Given the description of an element on the screen output the (x, y) to click on. 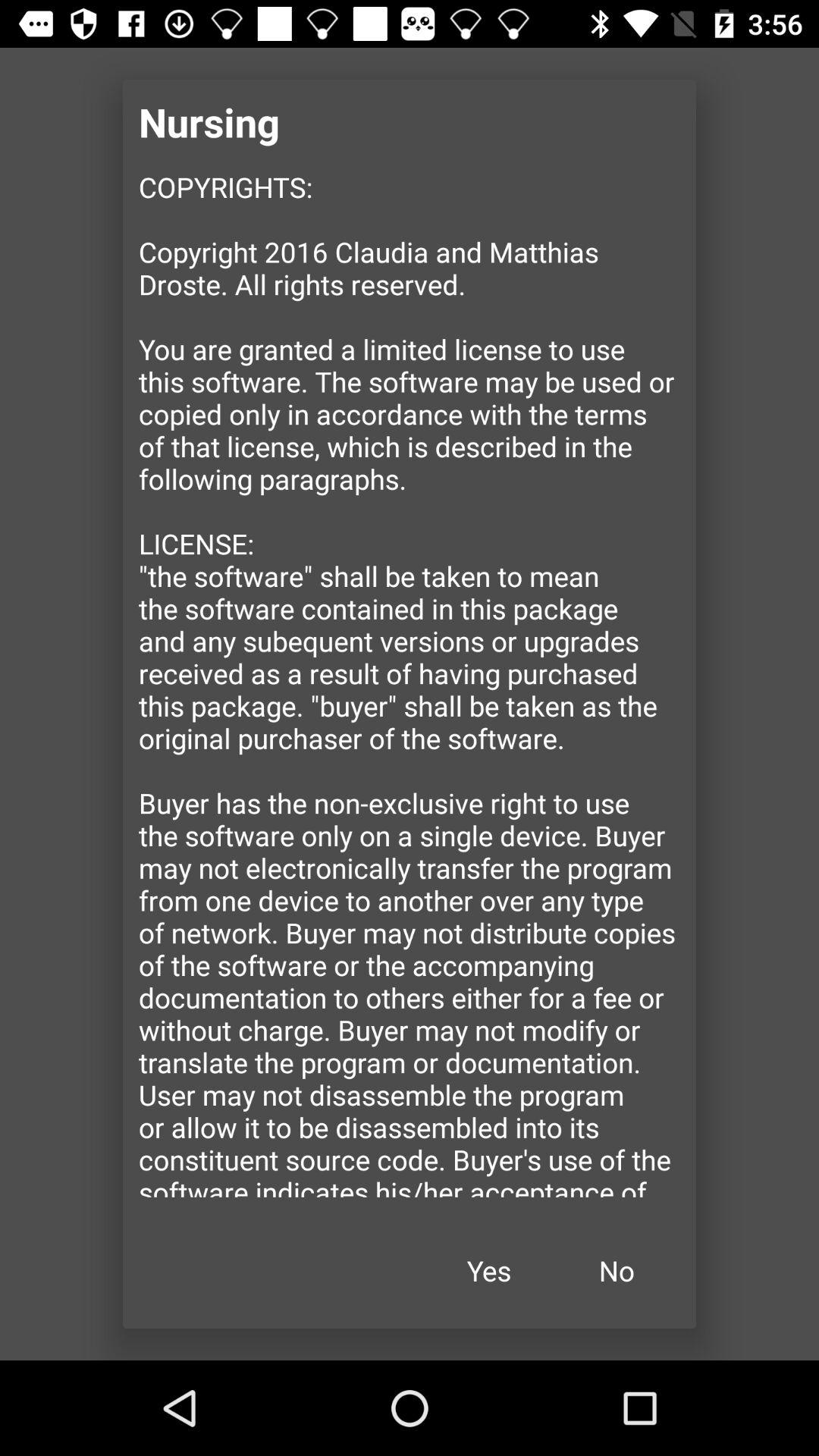
tap item below the copyrights copyright 2016 icon (616, 1270)
